Given the description of an element on the screen output the (x, y) to click on. 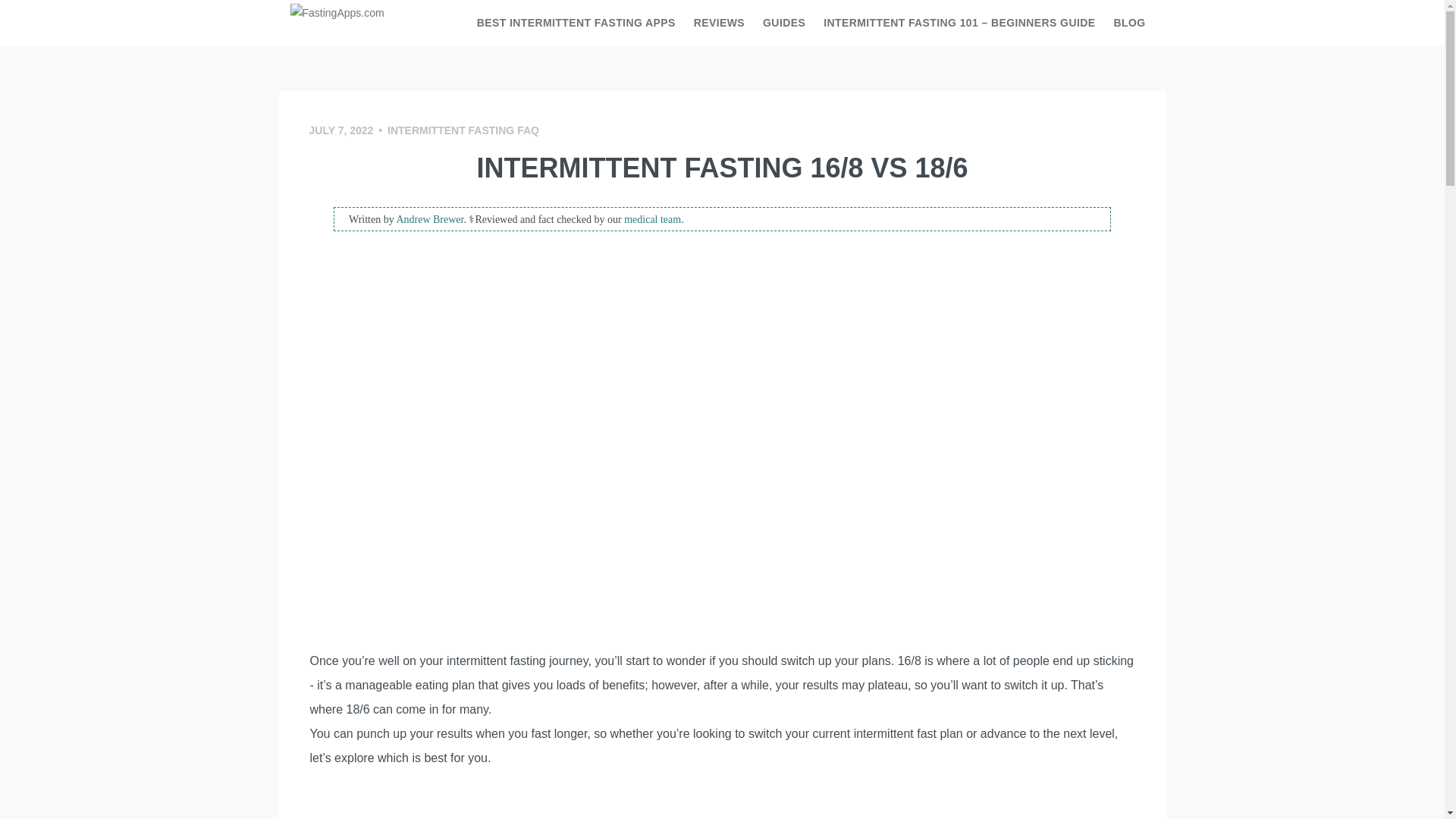
BEST INTERMITTENT FASTING APPS (575, 22)
BLOG (1128, 22)
GUIDES (783, 22)
REVIEWS (719, 22)
